Given the description of an element on the screen output the (x, y) to click on. 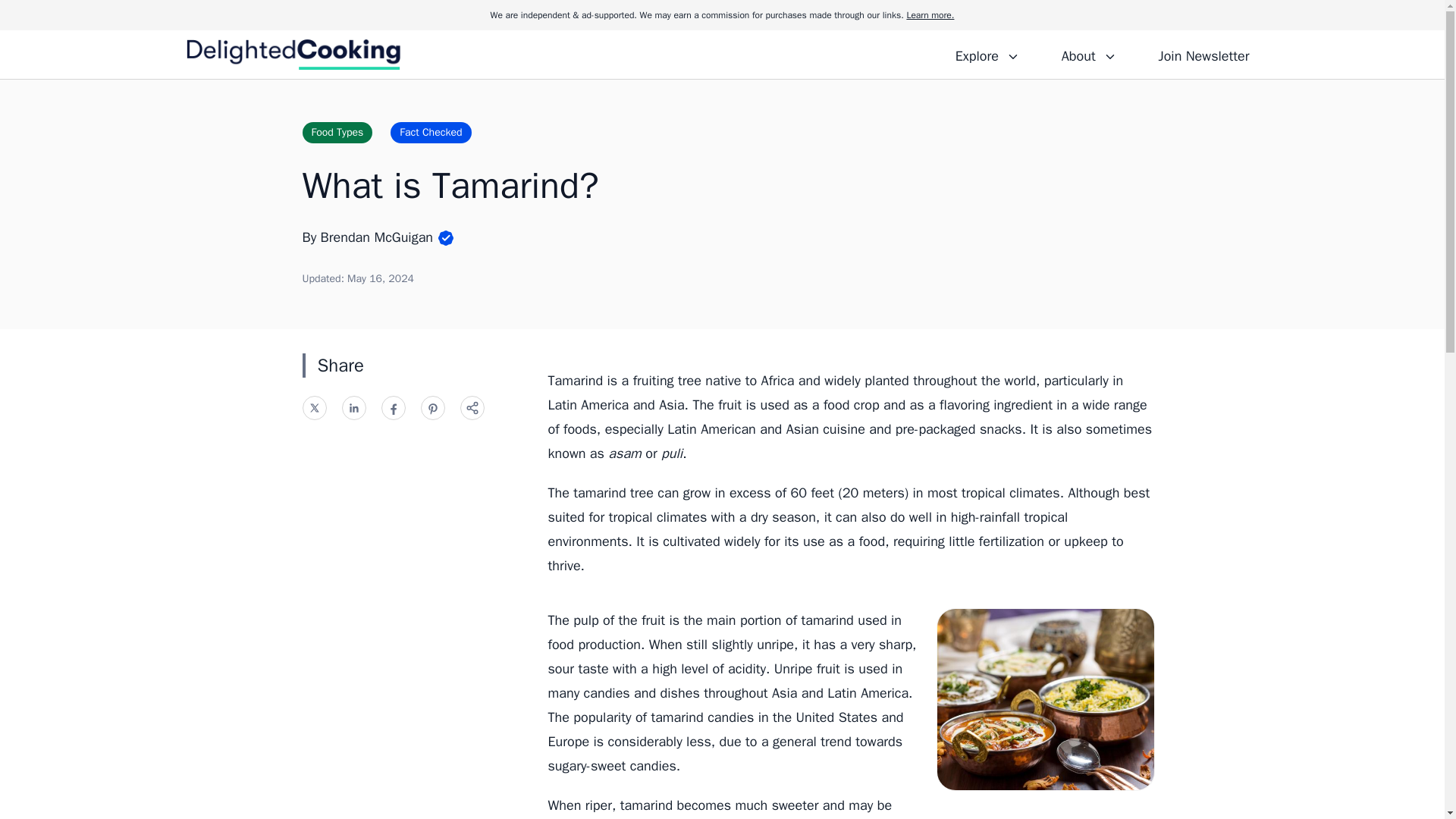
Fact Checked (430, 132)
Join Newsletter (1202, 54)
Food Types (336, 132)
Learn more. (929, 15)
Explore (986, 54)
About (1088, 54)
